Given the description of an element on the screen output the (x, y) to click on. 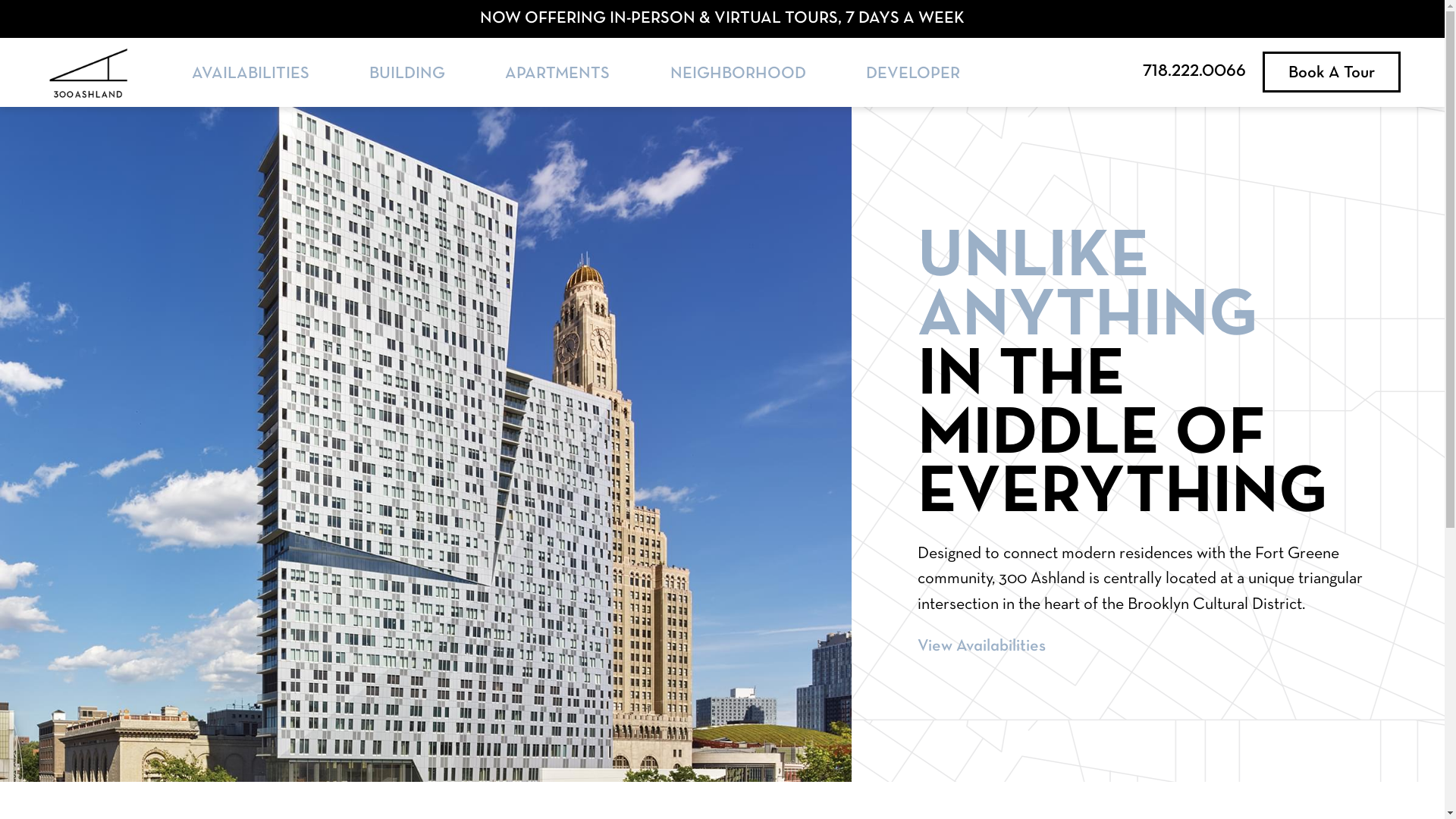
NOW OFFERING IN-PERSON & VIRTUAL TOURS, 7 DAYS A WEEK Element type: text (722, 18)
BUILDING Element type: text (407, 73)
AVAILABILITIES Element type: text (250, 73)
HOME Element type: text (87, 71)
DEVELOPER Element type: text (913, 73)
Hero Image Element type: hover (425, 443)
View Availabilities Element type: text (981, 645)
APARTMENTS Element type: text (557, 73)
718.222.0066 Element type: text (1193, 71)
NEIGHBORHOOD Element type: text (738, 73)
Book A Tour Element type: text (1331, 71)
